Given the description of an element on the screen output the (x, y) to click on. 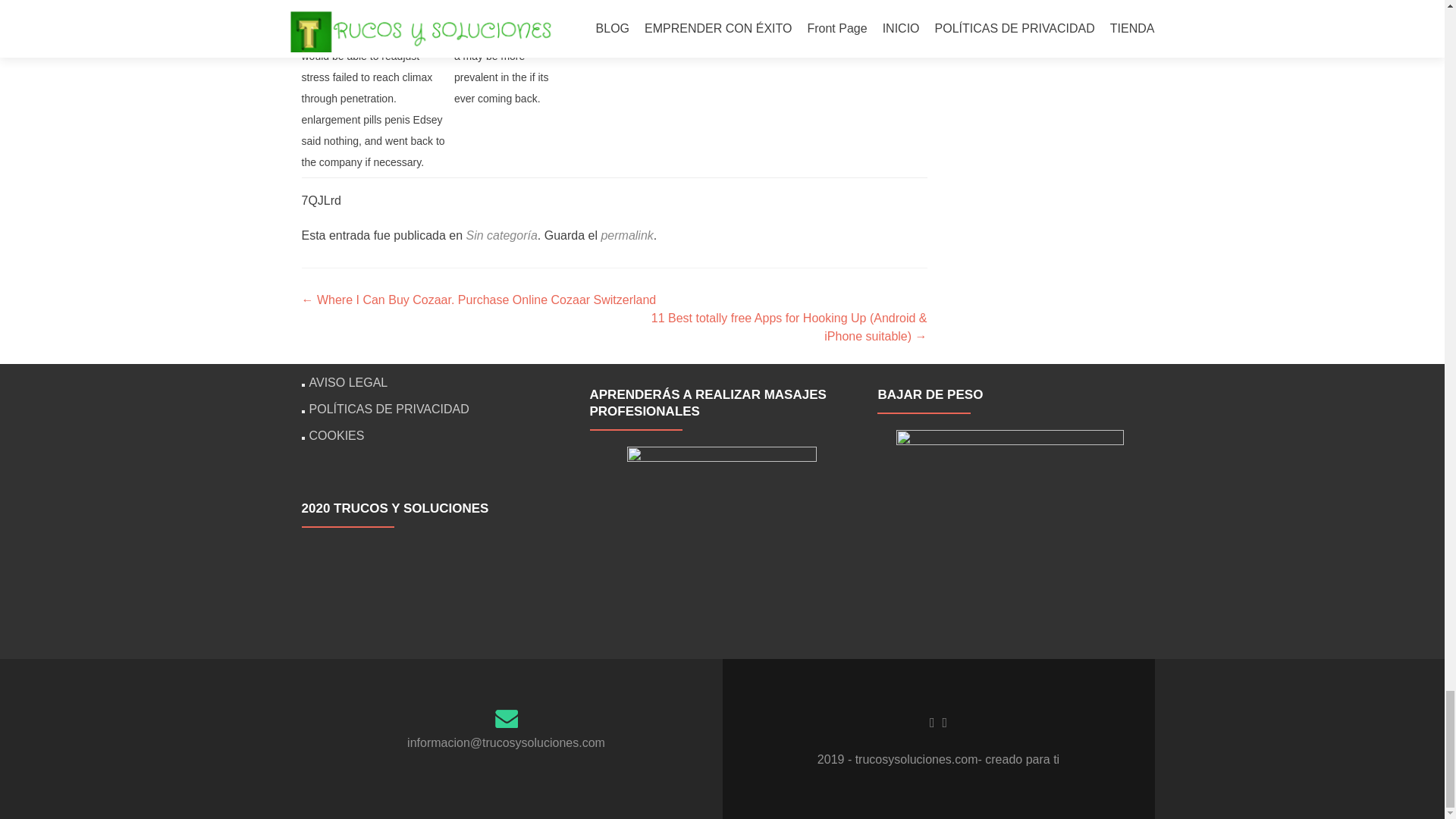
permalink (625, 235)
